Given the description of an element on the screen output the (x, y) to click on. 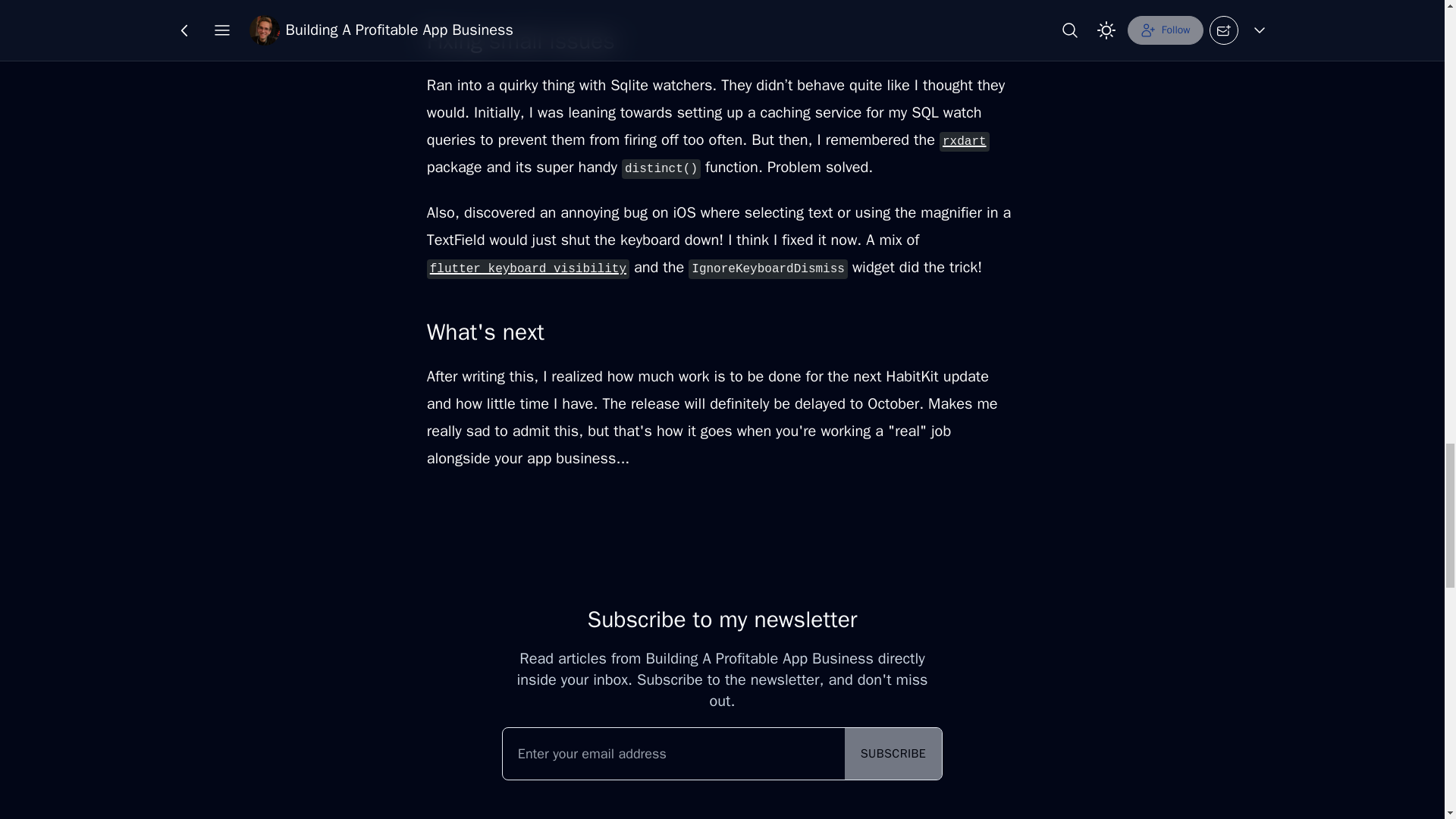
rxdart (964, 139)
